Given the description of an element on the screen output the (x, y) to click on. 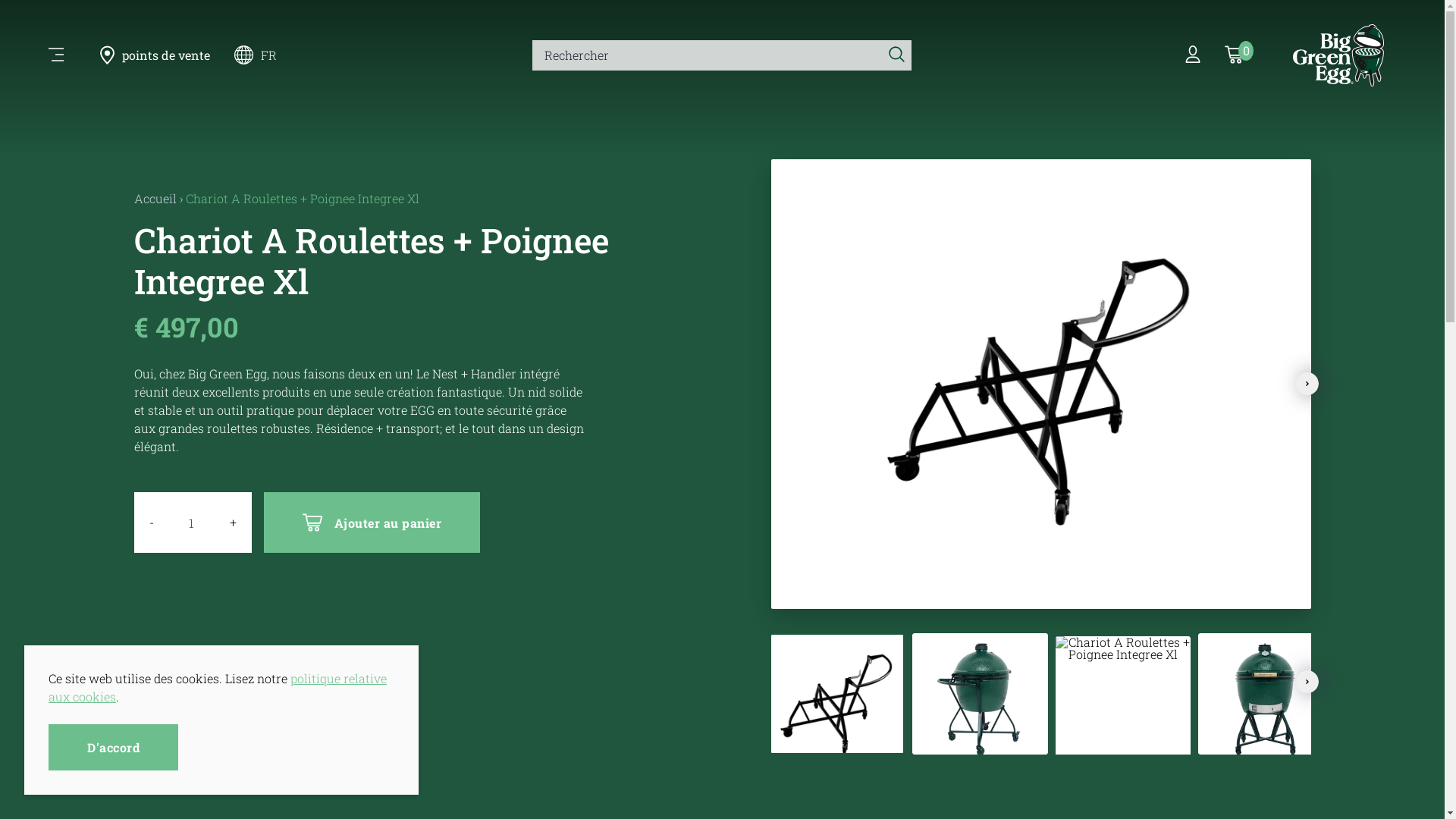
politique relative aux cookies Element type: text (217, 687)
Soumettre Element type: text (896, 55)
Ajouter au panier Element type: text (371, 522)
FR Element type: text (264, 55)
Panier
0 Element type: text (1234, 55)
points de vente Element type: text (155, 54)
S'inscrire Element type: text (1192, 54)
Soumettre Element type: text (493, 474)
Accueil Element type: text (154, 198)
D'accord Element type: text (113, 747)
